Given the description of an element on the screen output the (x, y) to click on. 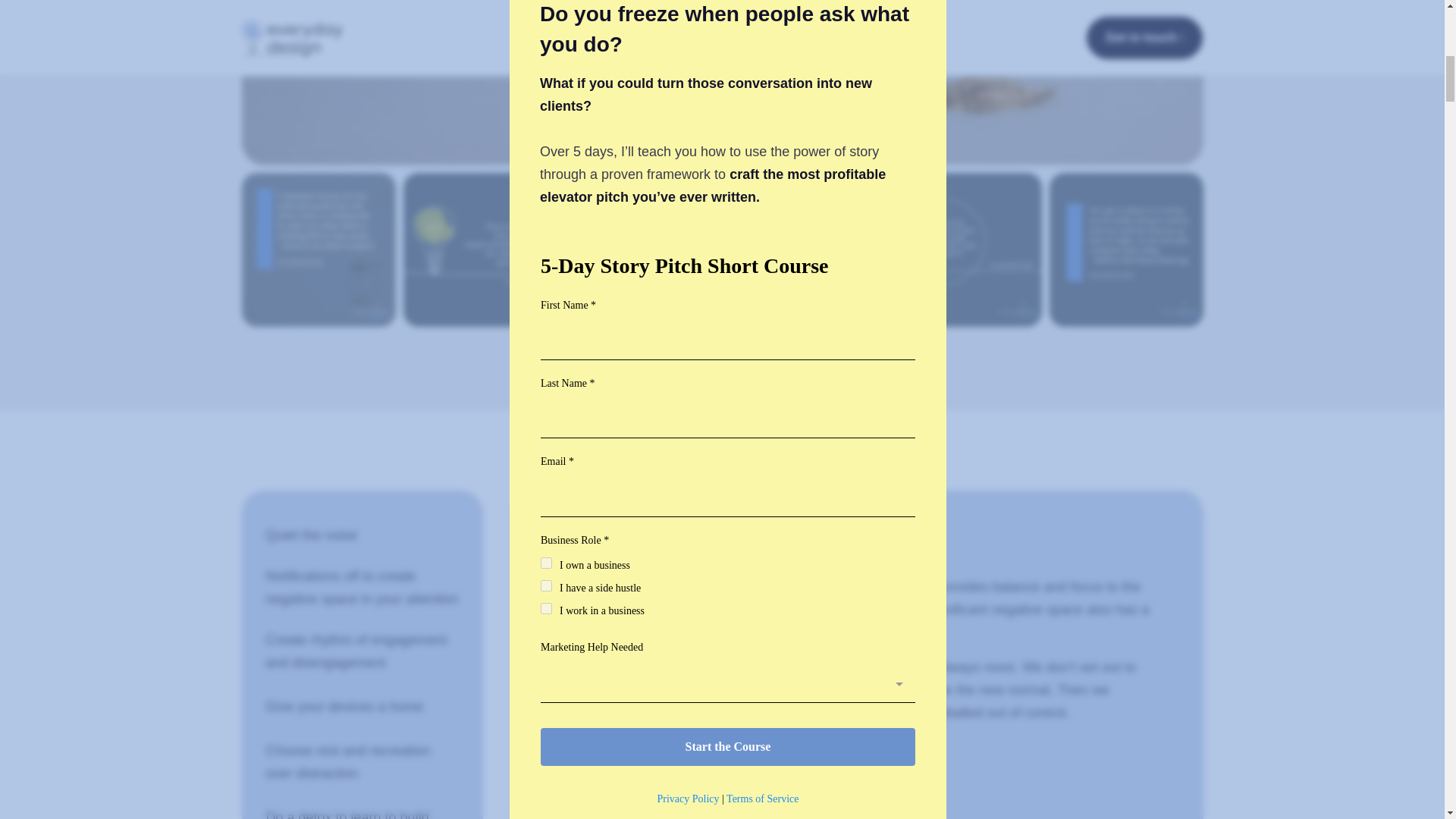
Quiet the noise (361, 534)
Notifications off to create negative space in your attention (361, 587)
Give your devices a home (361, 706)
Story Pitch Short Course Signup (727, 11)
Do a detox to learn to build negative space (361, 809)
Create rhythm of engagement and disengagement (361, 651)
Choose rest and recreation over distraction (361, 762)
